Given the description of an element on the screen output the (x, y) to click on. 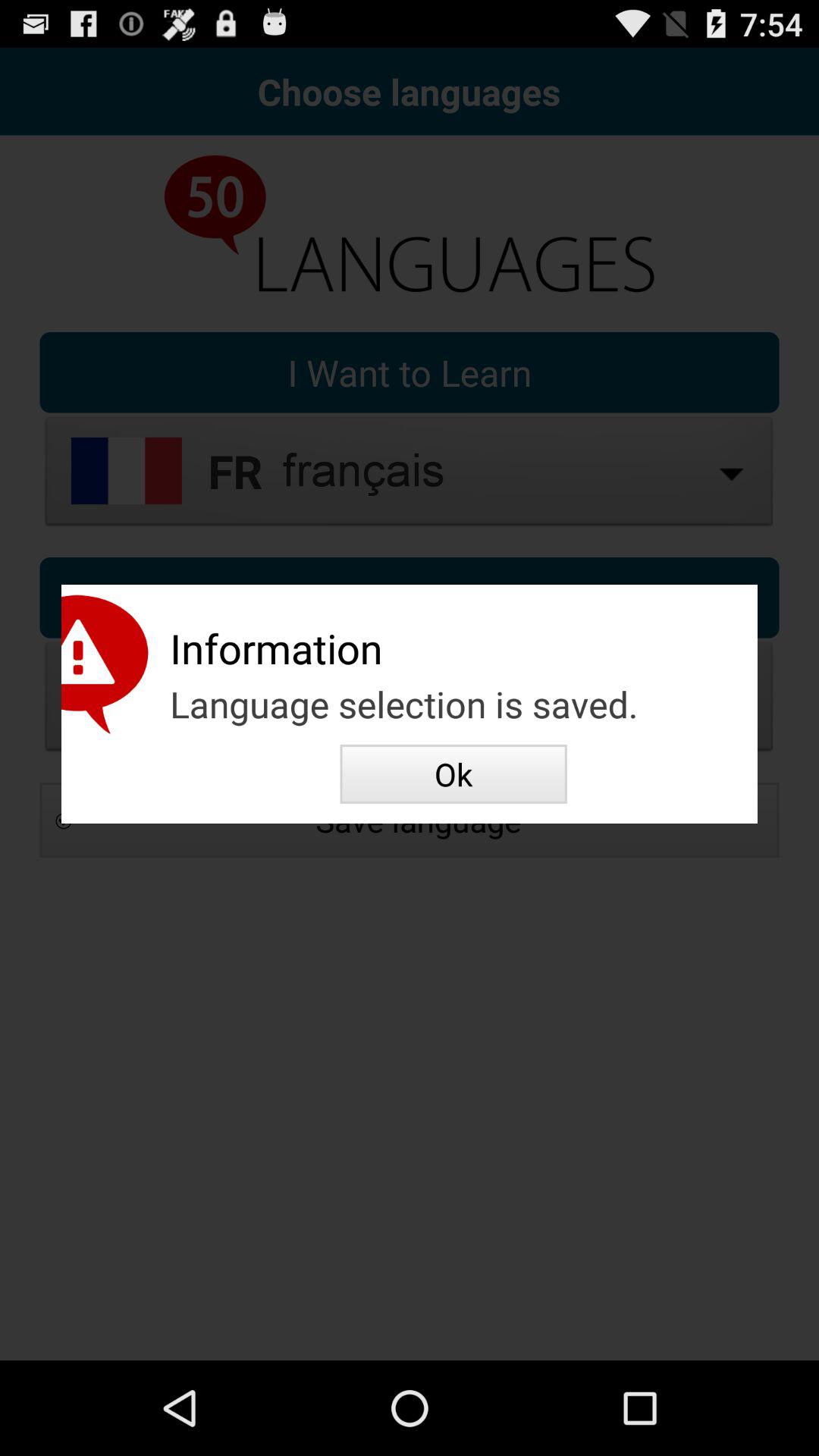
tap the ok (453, 773)
